Given the description of an element on the screen output the (x, y) to click on. 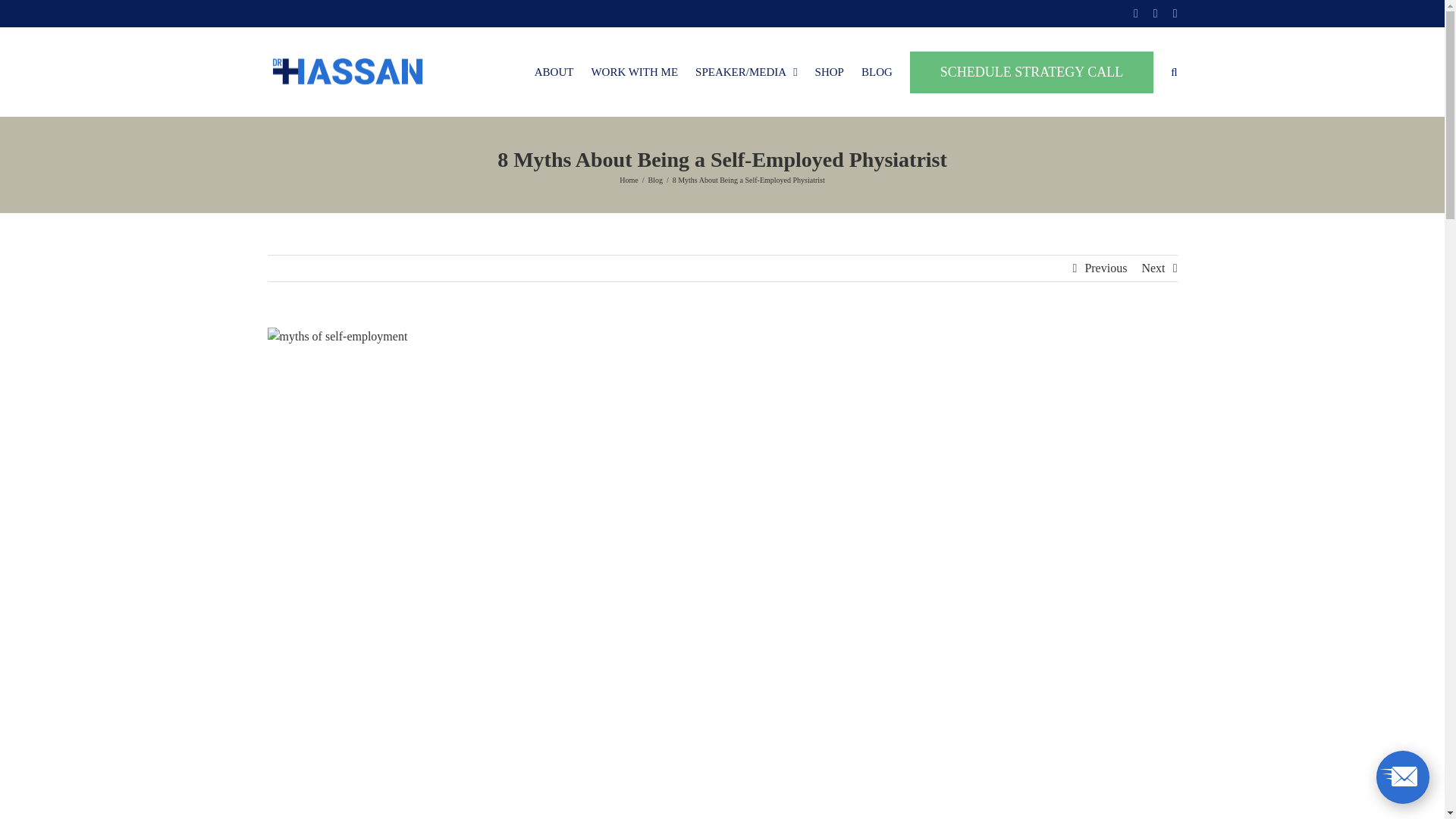
Blog (654, 180)
SCHEDULE STRATEGY CALL (1031, 71)
Home (628, 180)
Previous (1105, 268)
WORK WITH ME (634, 71)
Next (1152, 268)
